Given the description of an element on the screen output the (x, y) to click on. 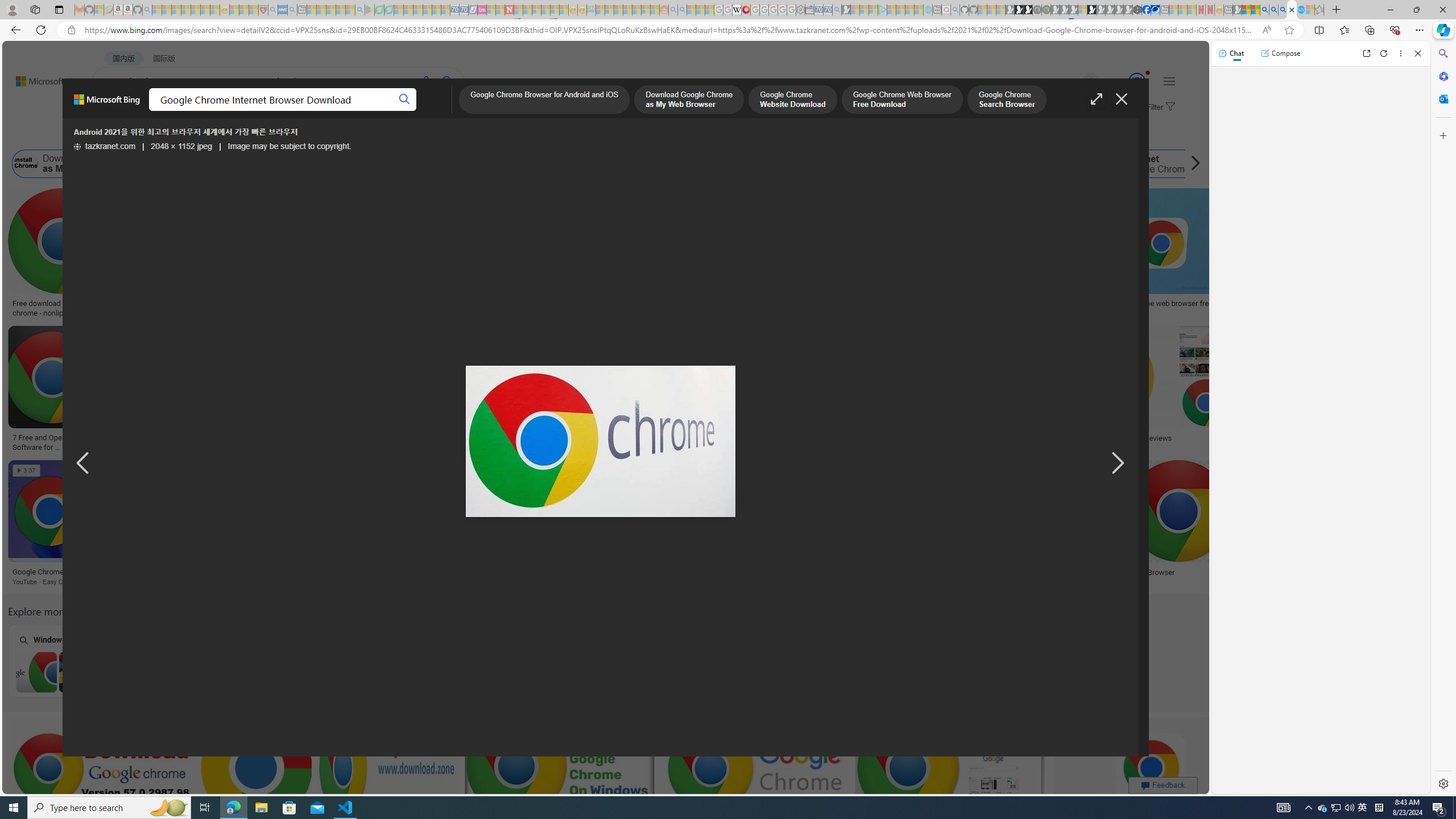
Install Google Chrome Web Browser (649, 163)
Chrome BrowserSave (1206, 524)
Google Chrome Website Download (227, 163)
wizardsgase - Blog (826, 303)
Search button (404, 99)
Image size (126, 135)
Close image (1121, 99)
Microsoft Bing, Back to Bing search (106, 104)
Download Google Chrome As My Web Browser (281, 571)
